Given the description of an element on the screen output the (x, y) to click on. 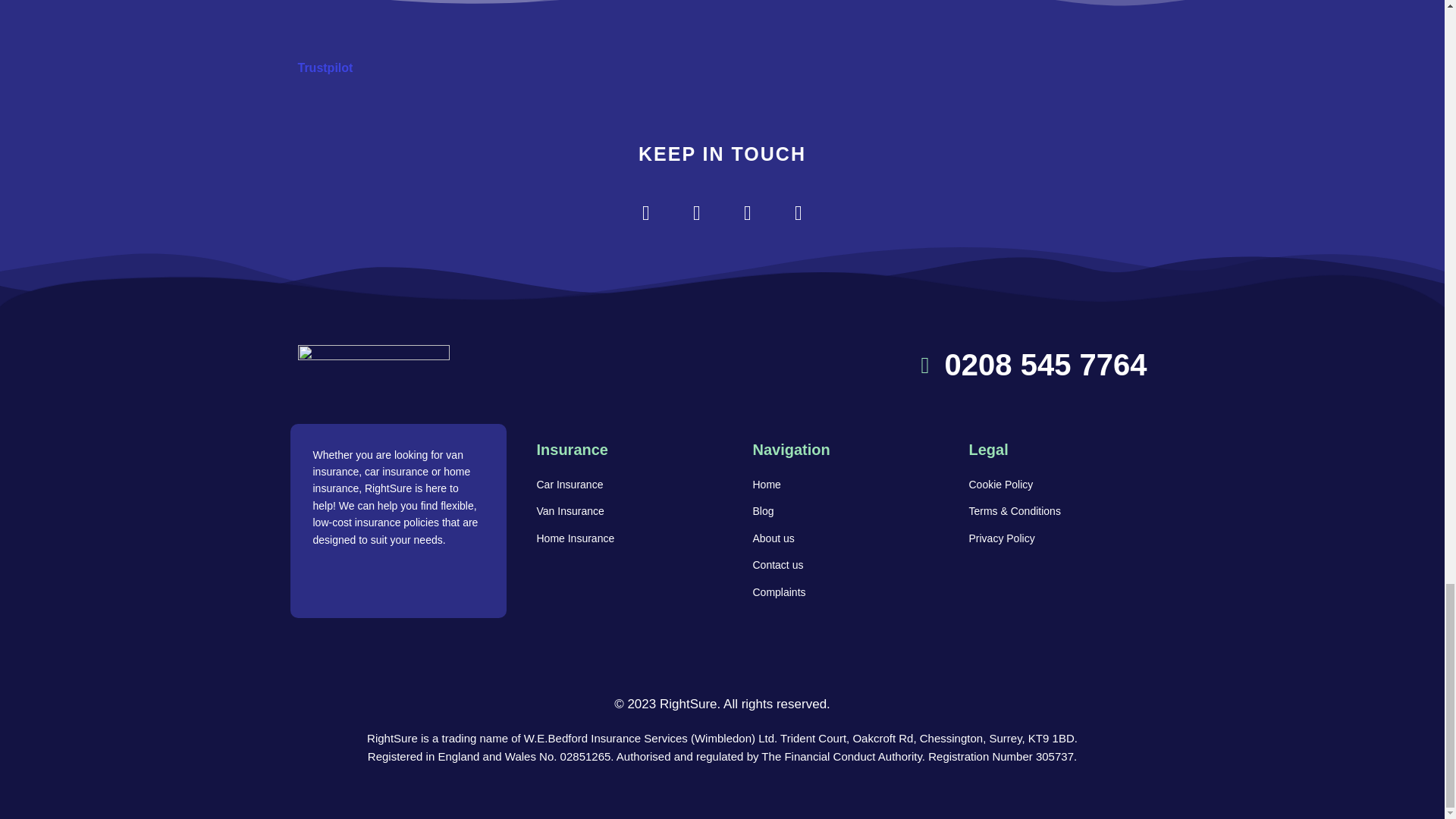
Van Insurance (615, 511)
Home (829, 485)
0208 545 7764 (938, 364)
Trustpilot (324, 67)
Car Insurance (615, 485)
Home Insurance (615, 538)
Blog (829, 511)
